Given the description of an element on the screen output the (x, y) to click on. 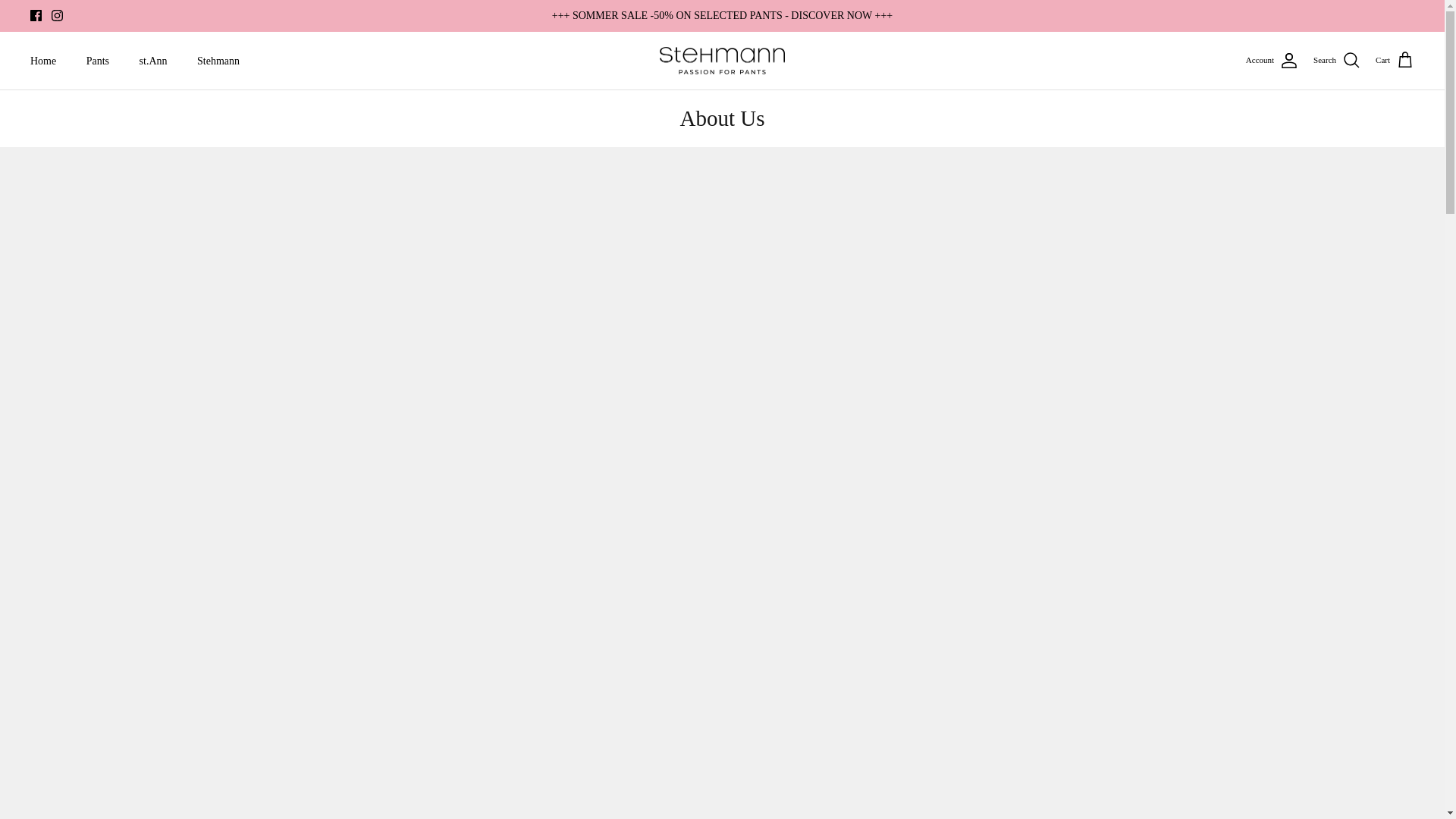
Pants (97, 60)
st.Ann (152, 60)
Instagram (56, 15)
Facebook (36, 15)
Home (42, 60)
Instagram (56, 15)
Cart (1394, 60)
Facebook (36, 15)
Account (1272, 60)
Stehmann (218, 60)
